Given the description of an element on the screen output the (x, y) to click on. 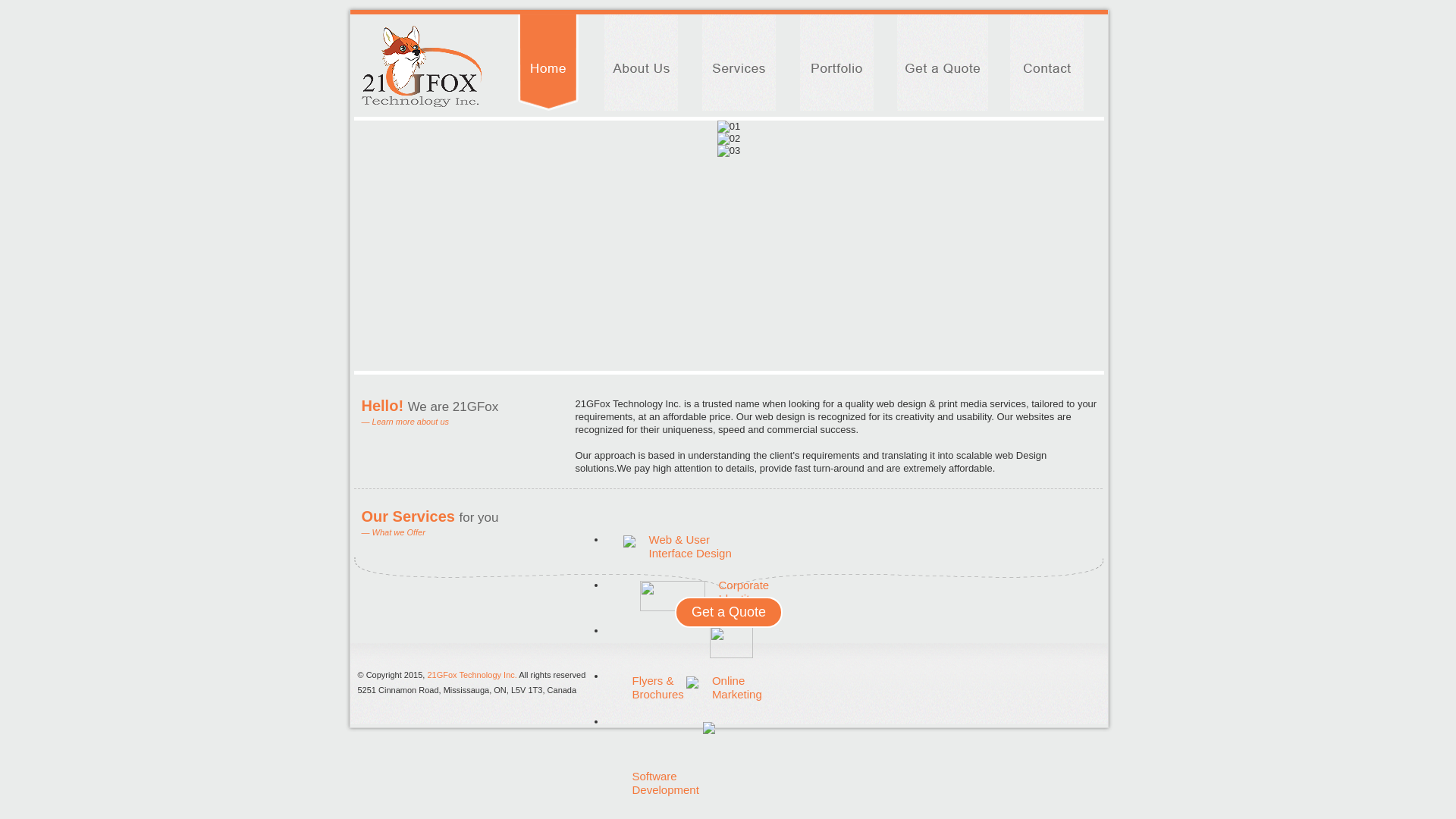
Software
Development Element type: text (665, 782)
Get a Quote Element type: text (728, 611)
Get a Quote Element type: hover (728, 611)
What we Offer Element type: text (398, 531)
Online
Marketing Element type: text (737, 687)
Flyers &
Brochures Element type: text (658, 687)
Corporate
Identity Element type: text (743, 591)
Learn more about us Element type: text (410, 421)
Web & User
Interface Design Element type: text (690, 546)
